Given the description of an element on the screen output the (x, y) to click on. 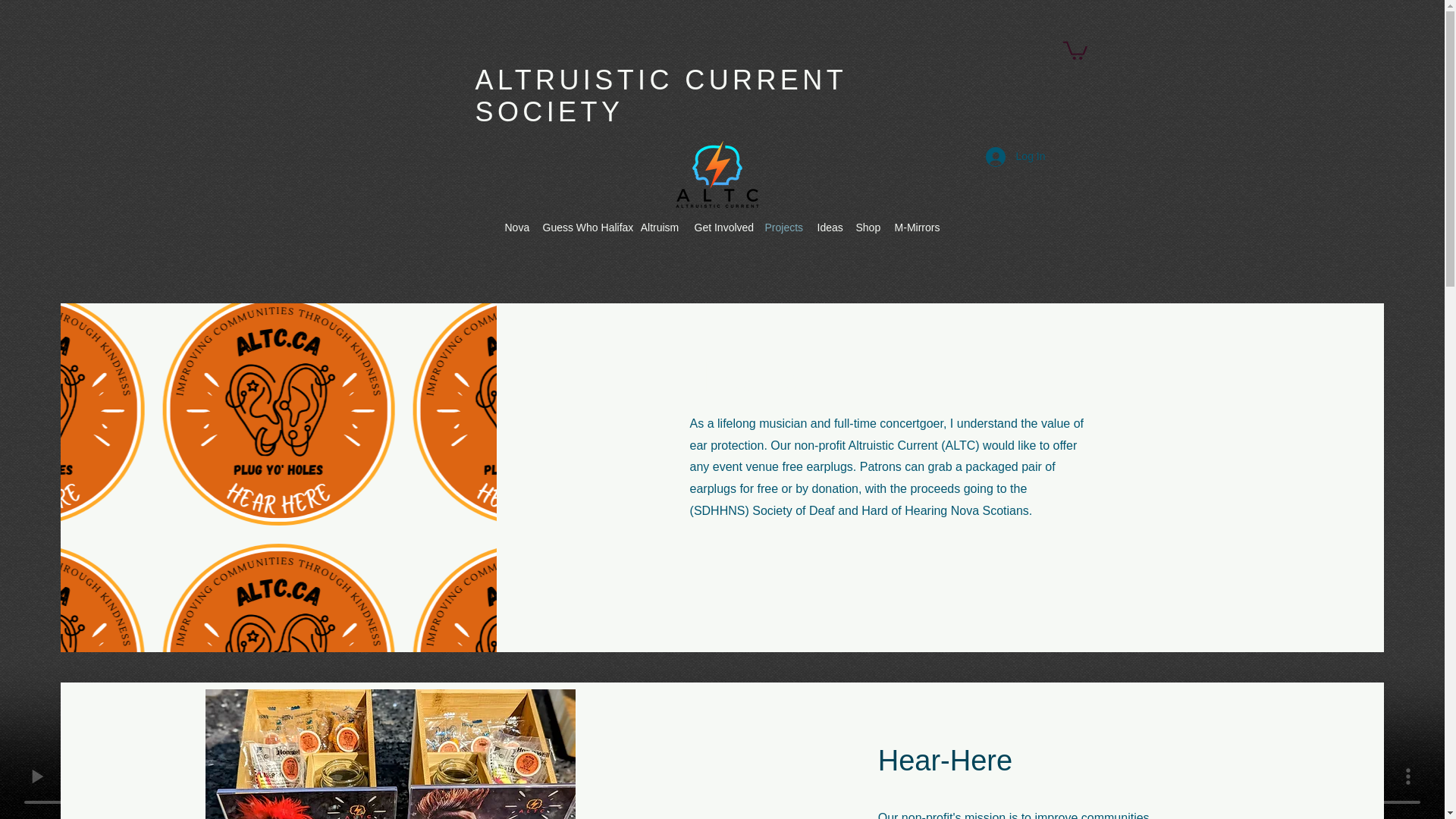
Altruism (658, 227)
Shop (866, 227)
Projects (783, 227)
Nova (516, 227)
Get Involved (722, 227)
M-Mirrors (916, 227)
ALTRUISTIC CURRENT SOCIETY (659, 95)
Ideas (828, 227)
Log In (1016, 156)
Guess Who Halifax (584, 227)
